Given the description of an element on the screen output the (x, y) to click on. 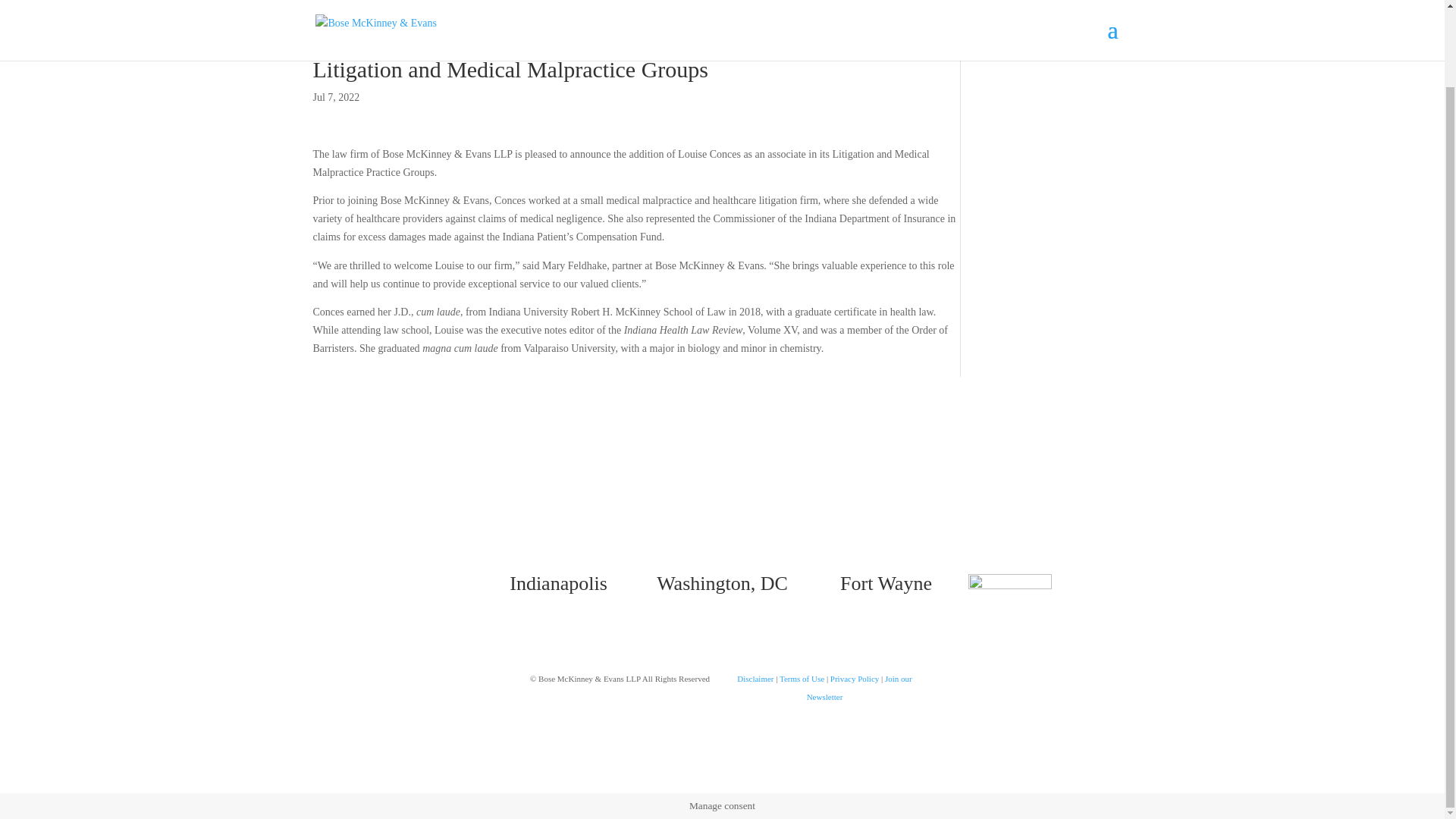
Join our Newsletter (859, 687)
Follow on Youtube (766, 498)
Follow on Facebook (675, 498)
Disclaimer (754, 678)
mackrell-firm (1009, 593)
Privacy Policy (854, 678)
Follow on LinkedIn (737, 498)
Terms of Use (801, 678)
Follow on X (706, 498)
